Given the description of an element on the screen output the (x, y) to click on. 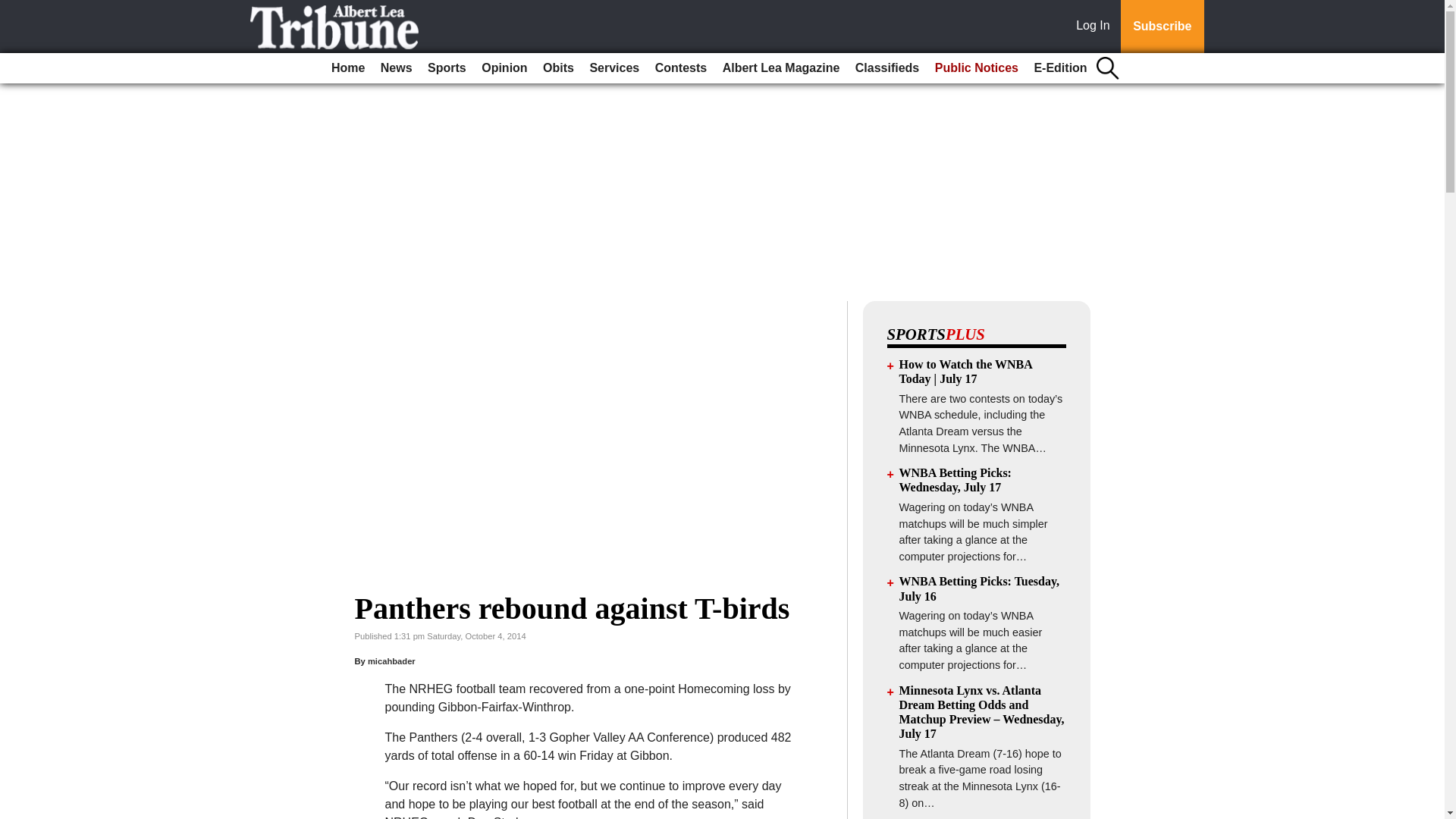
Log In (1095, 26)
Obits (558, 68)
Sports (446, 68)
Opinion (504, 68)
Subscribe (1162, 26)
News (396, 68)
Home (347, 68)
Services (614, 68)
